Given the description of an element on the screen output the (x, y) to click on. 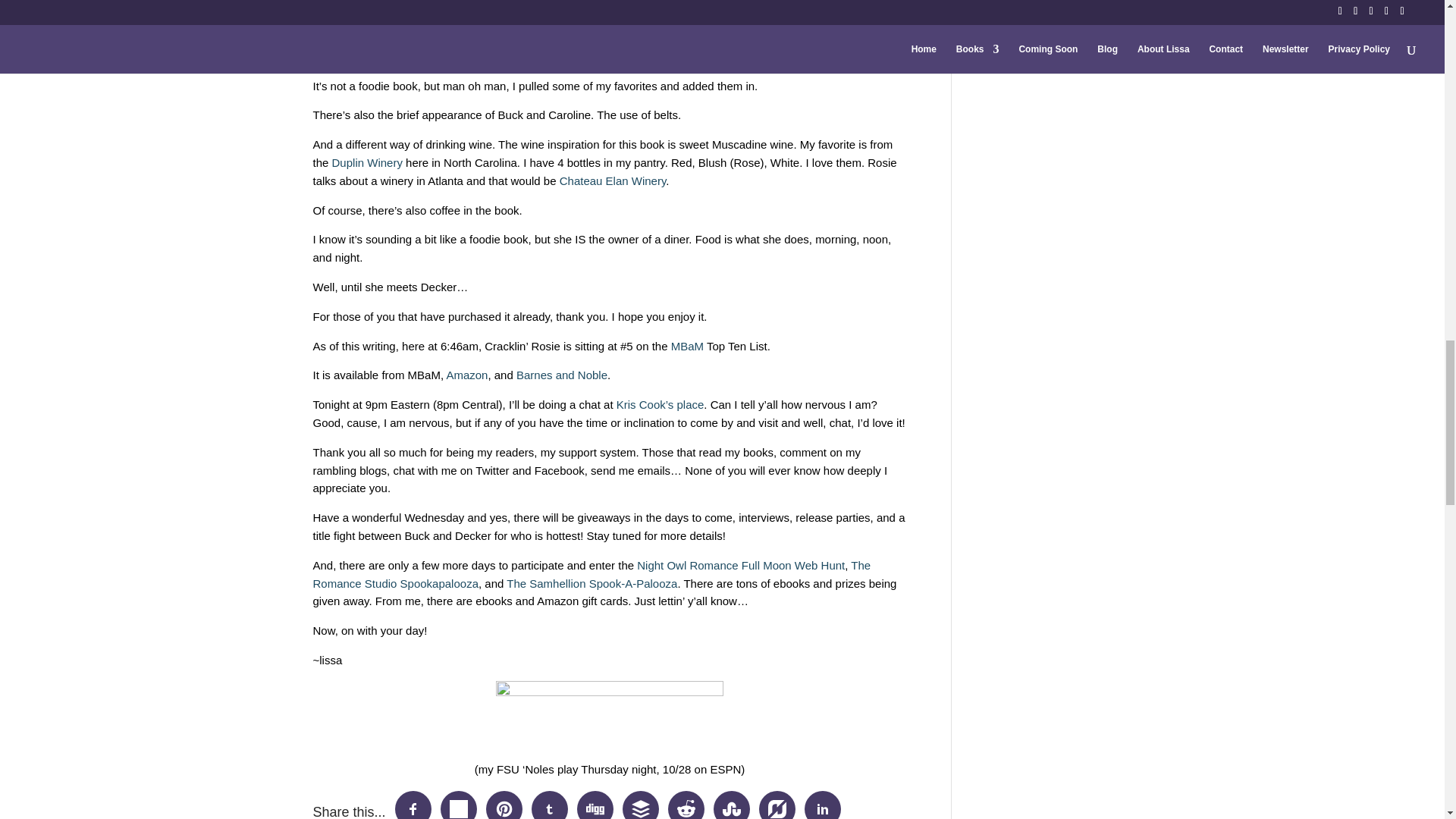
fearthespear (609, 720)
MBaM (687, 345)
Barnes and Noble (561, 374)
Duplin Winery (367, 162)
Chateau Elan Winery (612, 180)
Amazon (466, 374)
